Given the description of an element on the screen output the (x, y) to click on. 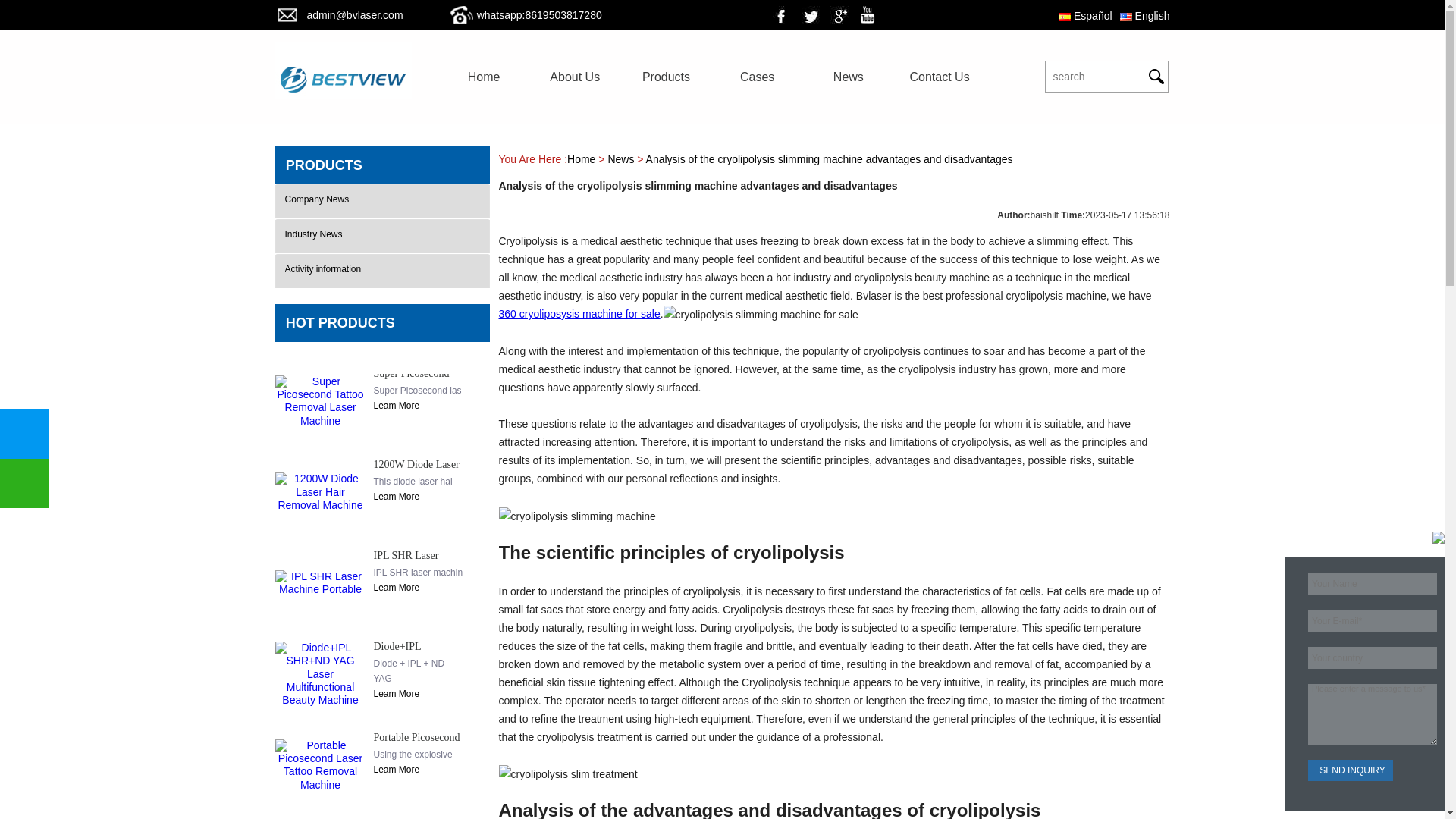
Products (665, 76)
Contact Us (939, 76)
Cases (757, 76)
search... (1088, 76)
About Us (574, 76)
SEND INQUIRY (1350, 770)
Home (483, 76)
News (848, 76)
